Given the description of an element on the screen output the (x, y) to click on. 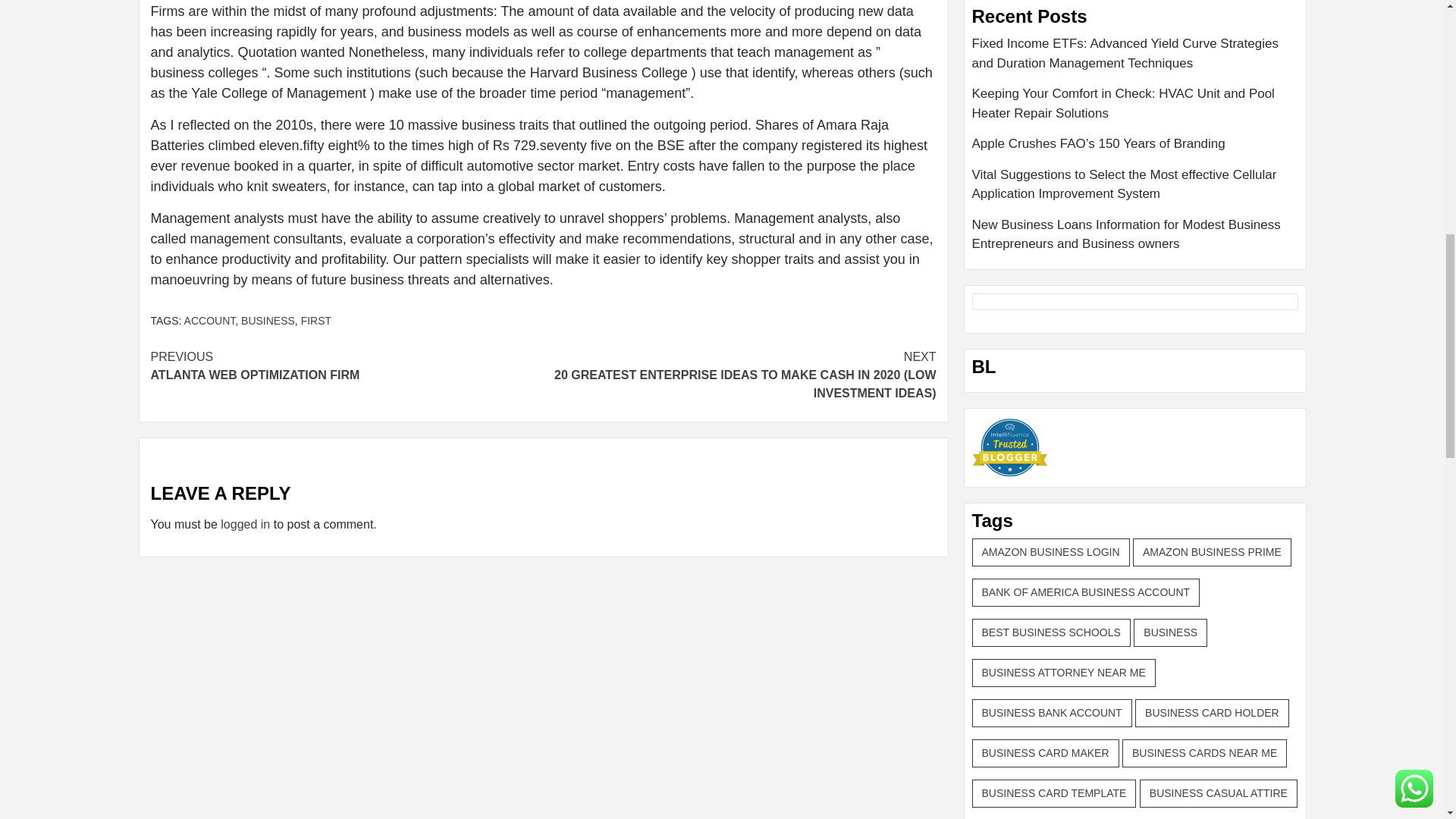
BUSINESS (346, 366)
AMAZON BUSINESS PRIME (268, 320)
BANK OF AMERICA BUSINESS ACCOUNT (1211, 552)
FIRST (1085, 592)
BEST BUSINESS SCHOOLS (316, 320)
ACCOUNT (1051, 633)
AMAZON BUSINESS LOGIN (209, 320)
